Given the description of an element on the screen output the (x, y) to click on. 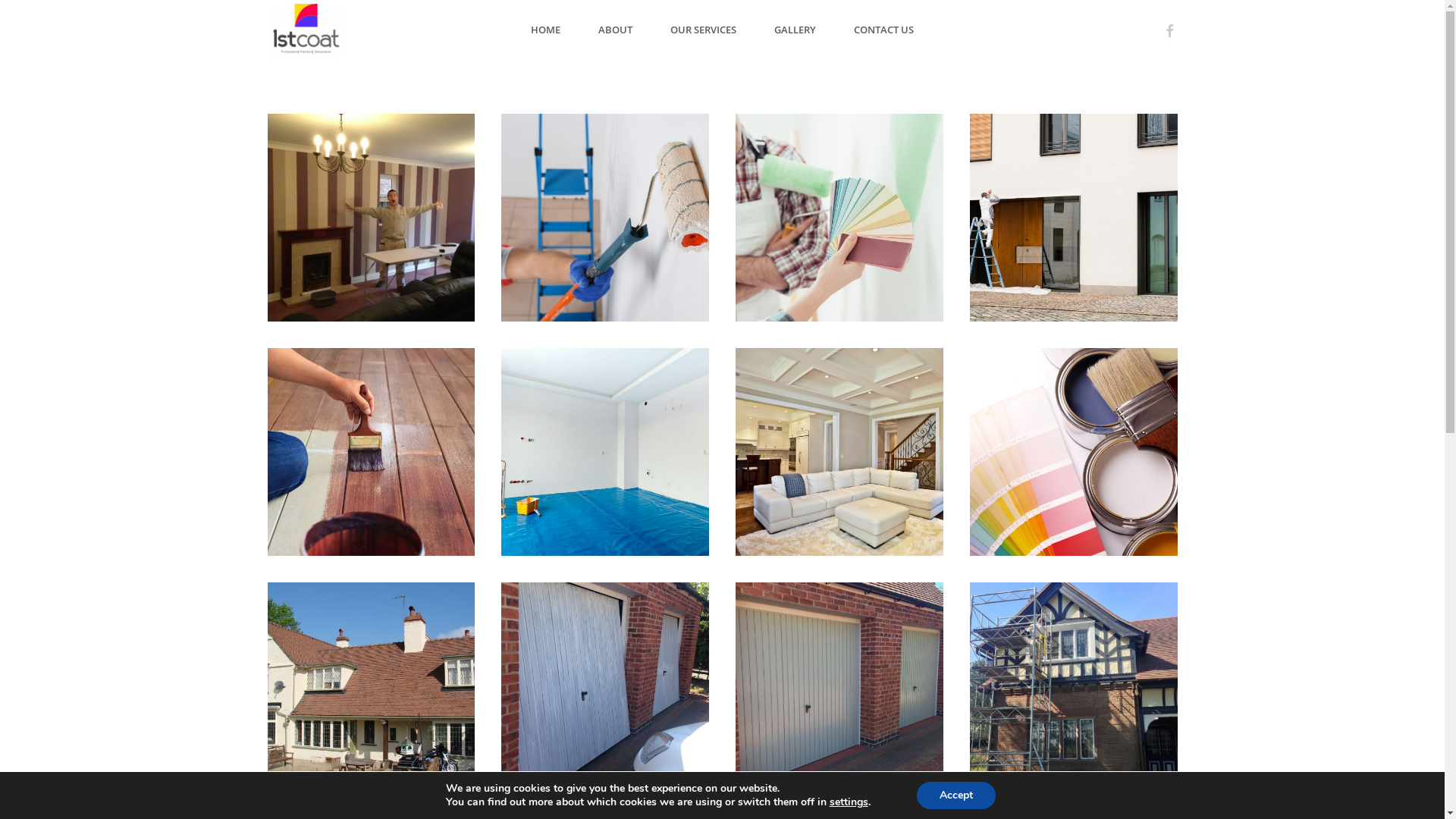
Photo 17 11 2011 15 48 40 E1401208361209 Element type: hover (370, 217)
Shutterstock 779687020 Element type: hover (605, 217)
GALLERY Element type: text (794, 30)
Shutterstock 86703475 Element type: hover (839, 451)
415699 417359348319969 167309624 O Element type: hover (370, 686)
IMG 9086 Element type: hover (839, 686)
Shutterstock 279556022 Element type: hover (370, 451)
ABOUT Element type: text (615, 30)
settings Element type: text (848, 802)
Shutterstock 342064283 Element type: hover (1073, 217)
OUR SERVICES Element type: text (703, 30)
IMG 9800 Element type: hover (605, 686)
IMG 6139 E1401259589778 Element type: hover (1073, 686)
CONTACT US Element type: text (883, 30)
HOME Element type: text (545, 30)
Shutterstock 69583471 Element type: hover (1073, 451)
Shutterstock 95352937 Element type: hover (605, 451)
Shutterstock 704540395 Element type: hover (839, 217)
Accept Element type: text (955, 795)
